Given the description of an element on the screen output the (x, y) to click on. 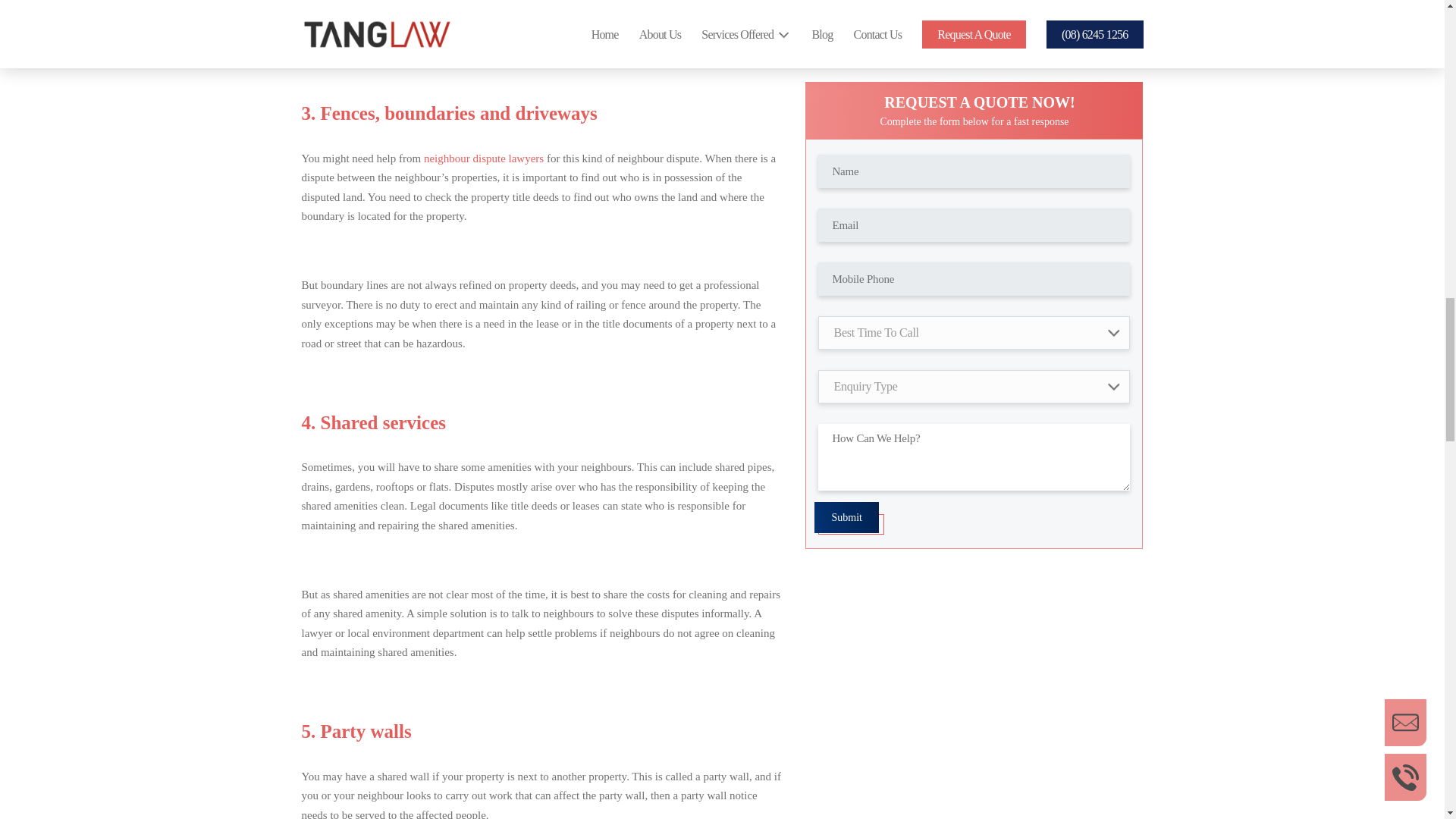
neighbour dispute lawyers (483, 158)
